Given the description of an element on the screen output the (x, y) to click on. 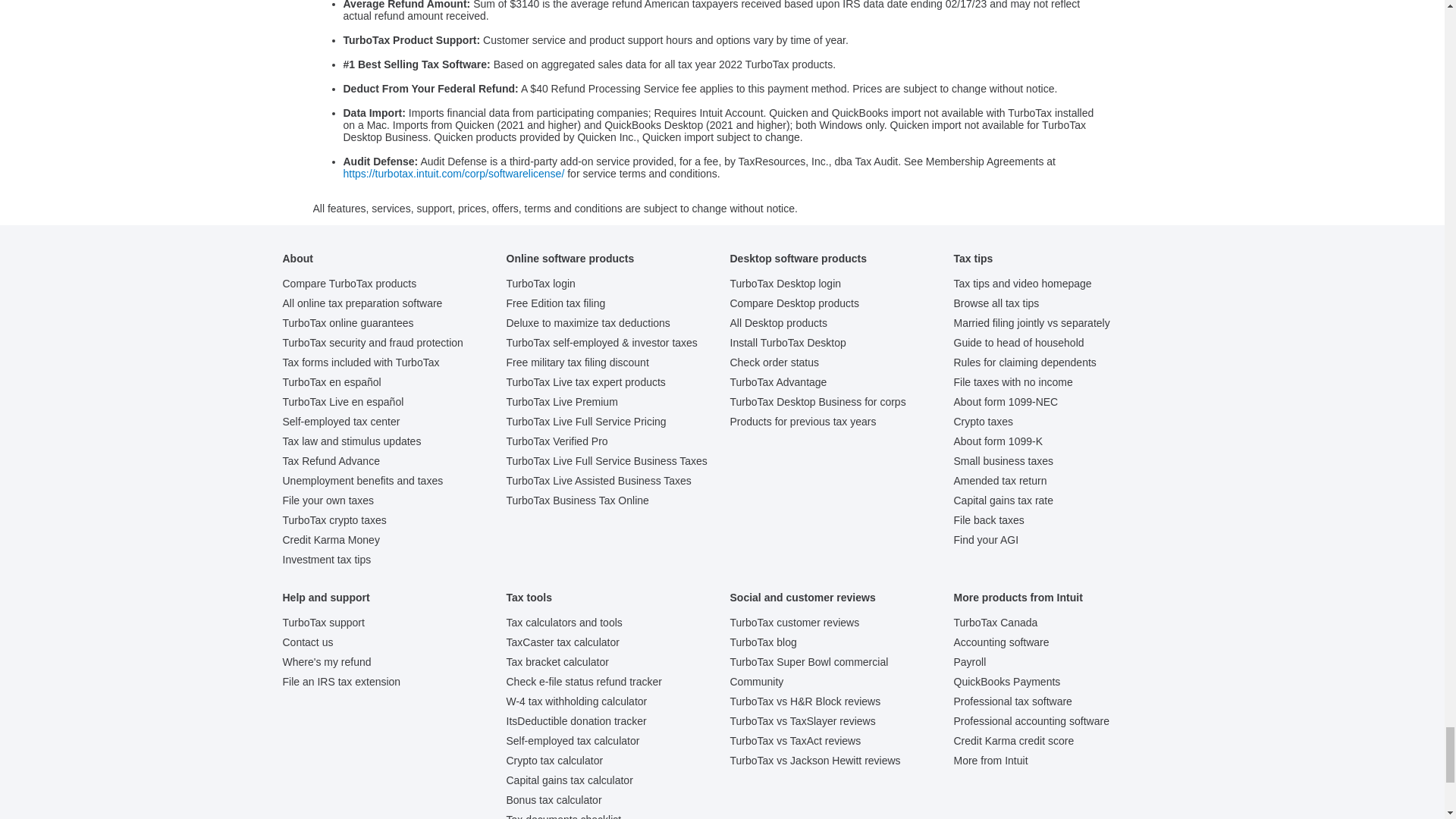
Compare TurboTax products (349, 283)
Unemployment benefits and taxes (362, 480)
Self-employed tax center (340, 421)
TurboTax security and fraud protection (372, 342)
Investment tax tips (326, 559)
All online tax preparation software (362, 303)
TurboTax crypto taxes (333, 520)
File your own taxes (328, 500)
Tax Refund Advance (330, 460)
Credit Karma Money (330, 539)
